Given the description of an element on the screen output the (x, y) to click on. 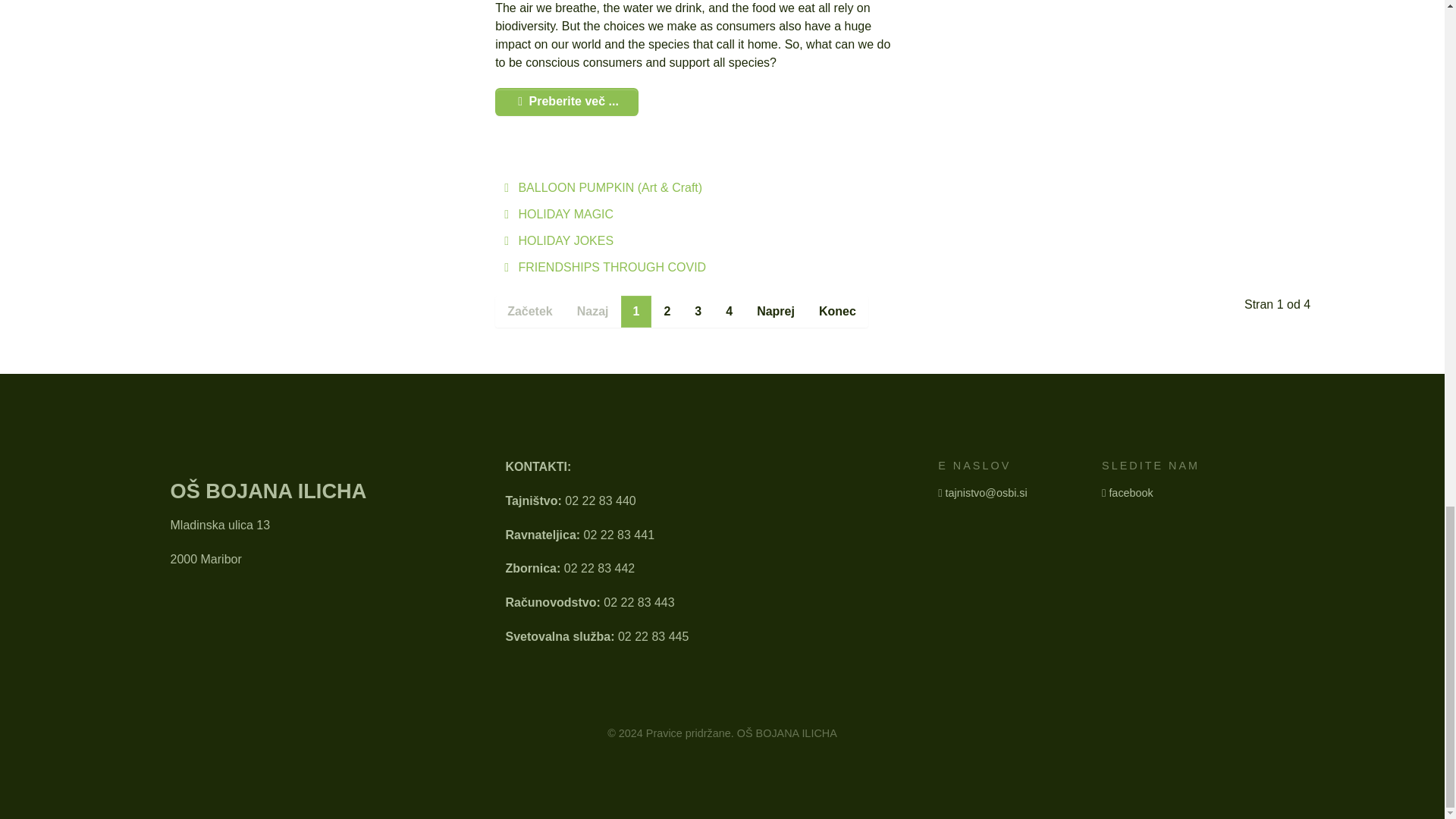
Naprej (775, 311)
Konec (836, 311)
facebook (1130, 492)
